Given the description of an element on the screen output the (x, y) to click on. 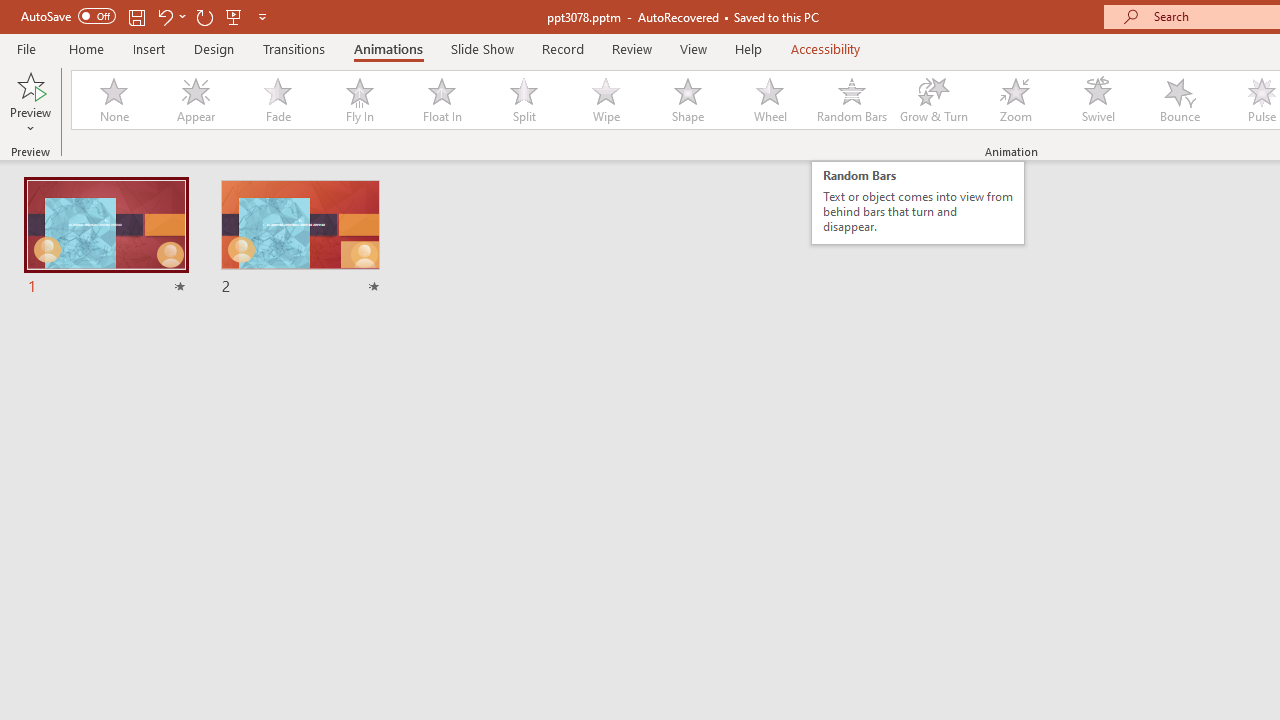
Bounce (1180, 100)
Grow & Turn (934, 100)
Fly In (359, 100)
Float In (441, 100)
